Given the description of an element on the screen output the (x, y) to click on. 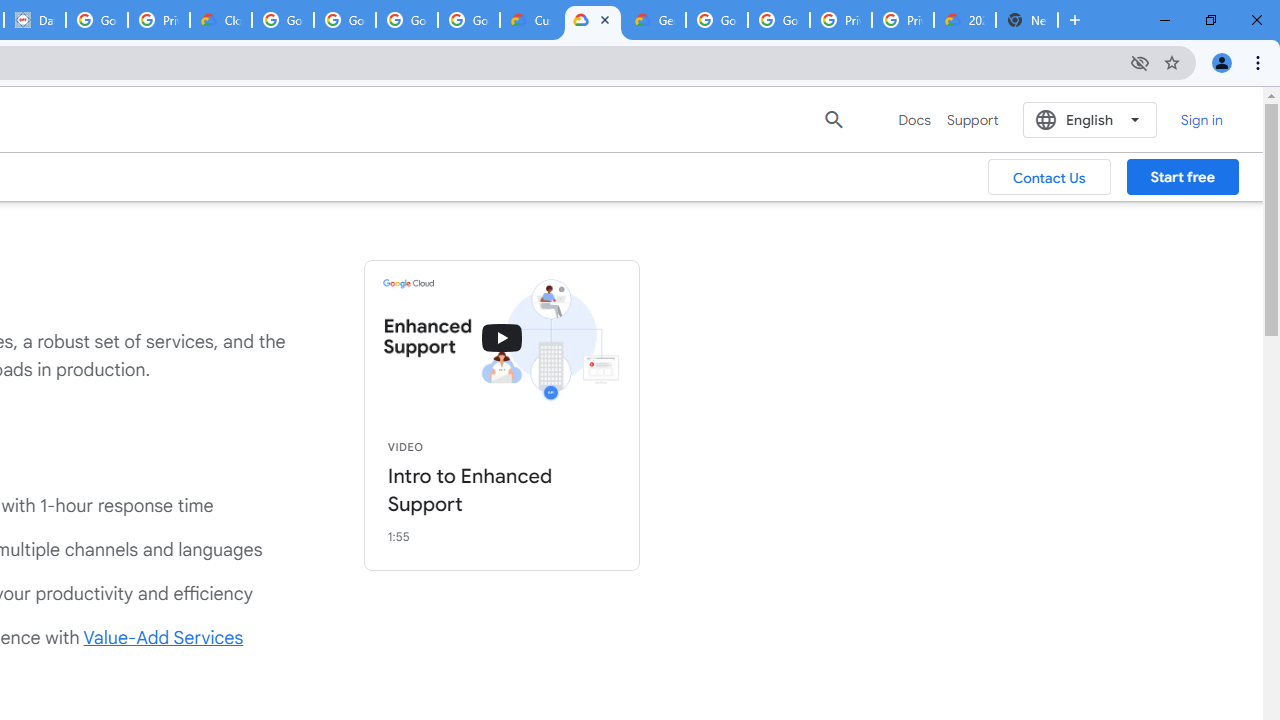
Enhanced Support in action (501, 337)
New Tab (1026, 20)
Google Cloud Platform (778, 20)
Customer Care | Google Cloud (530, 20)
Google Cloud Platform (716, 20)
Support (972, 119)
